Given the description of an element on the screen output the (x, y) to click on. 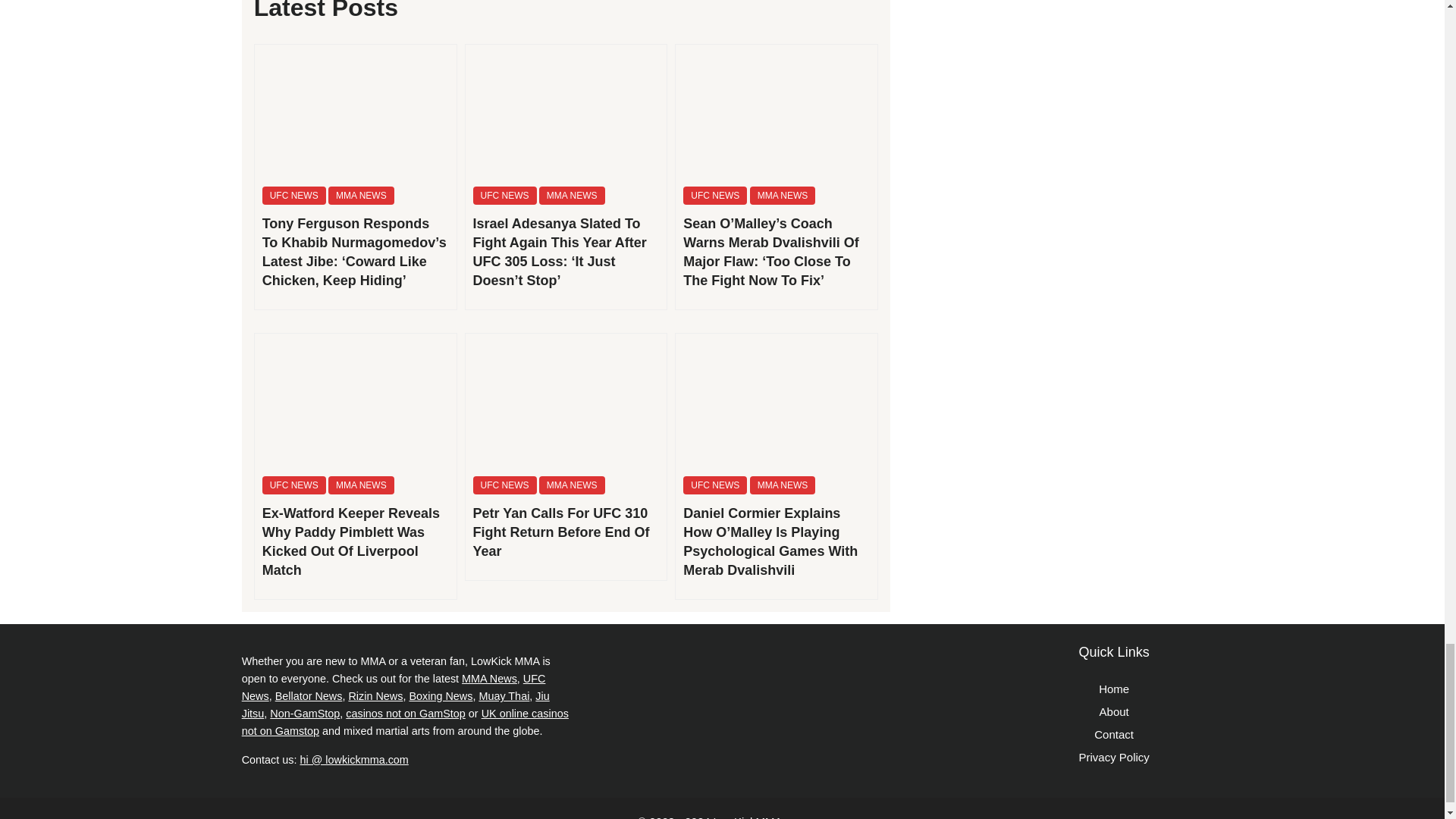
Petr Yan calls for UFC 310 fight return before end of year 6 (565, 400)
